Given the description of an element on the screen output the (x, y) to click on. 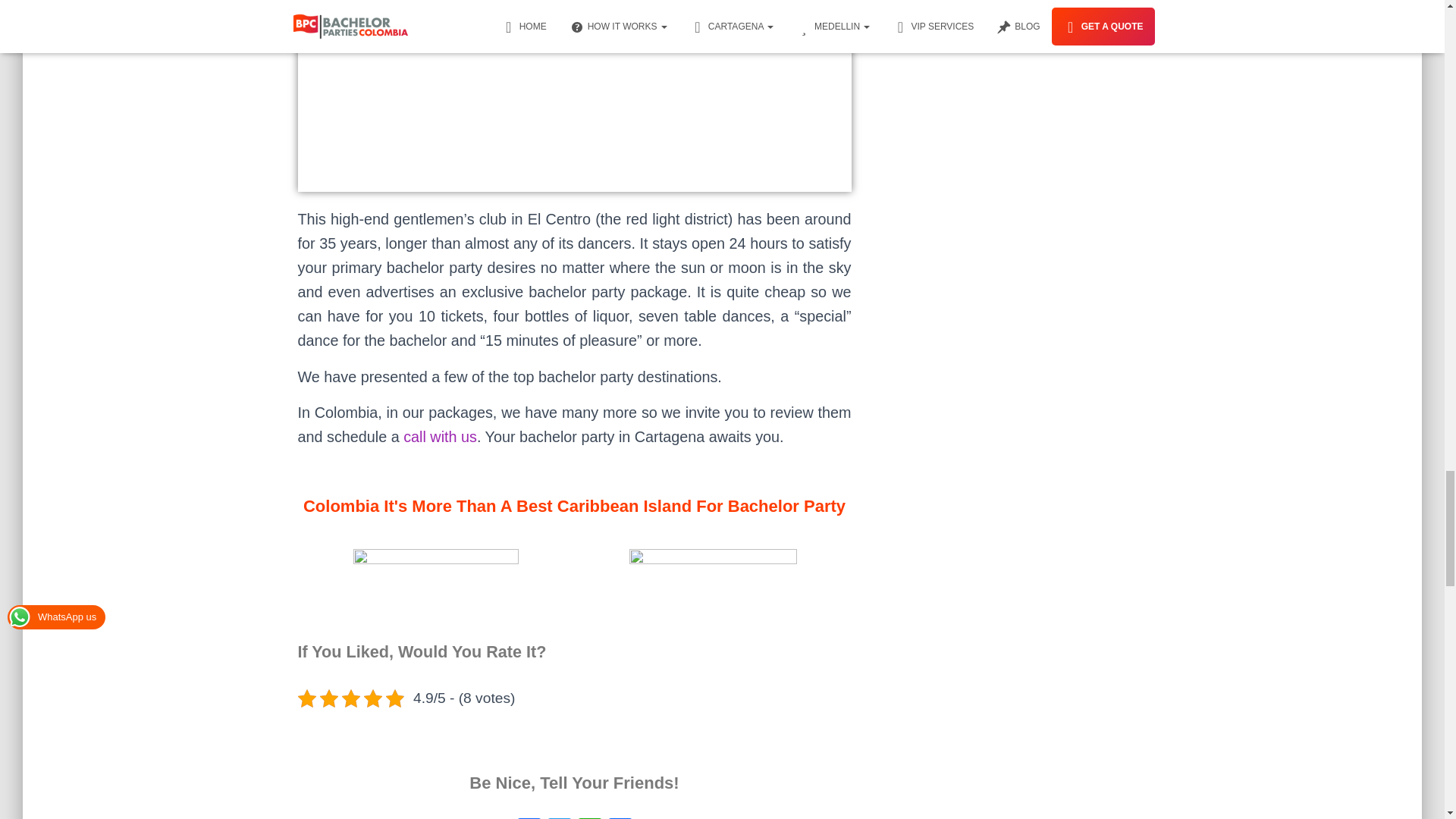
call with us (440, 436)
